Given the description of an element on the screen output the (x, y) to click on. 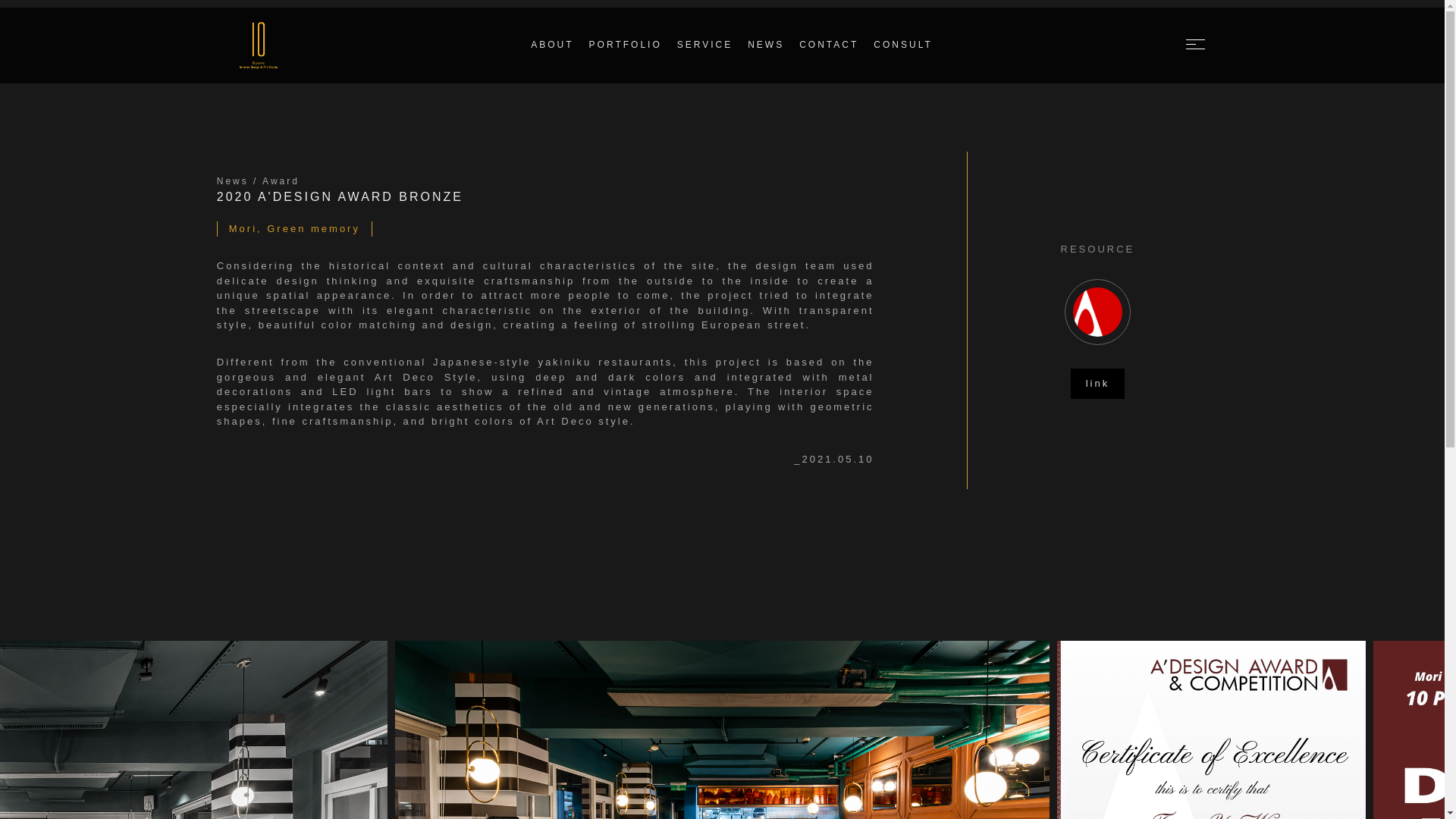
PORTFOLIO Element type: text (625, 51)
NEWS Element type: text (765, 51)
CONTACT Element type: text (828, 51)
CONSULT Element type: text (902, 51)
SERVICE Element type: text (704, 51)
ABOUT Element type: text (551, 51)
link Element type: text (1098, 383)
